Given the description of an element on the screen output the (x, y) to click on. 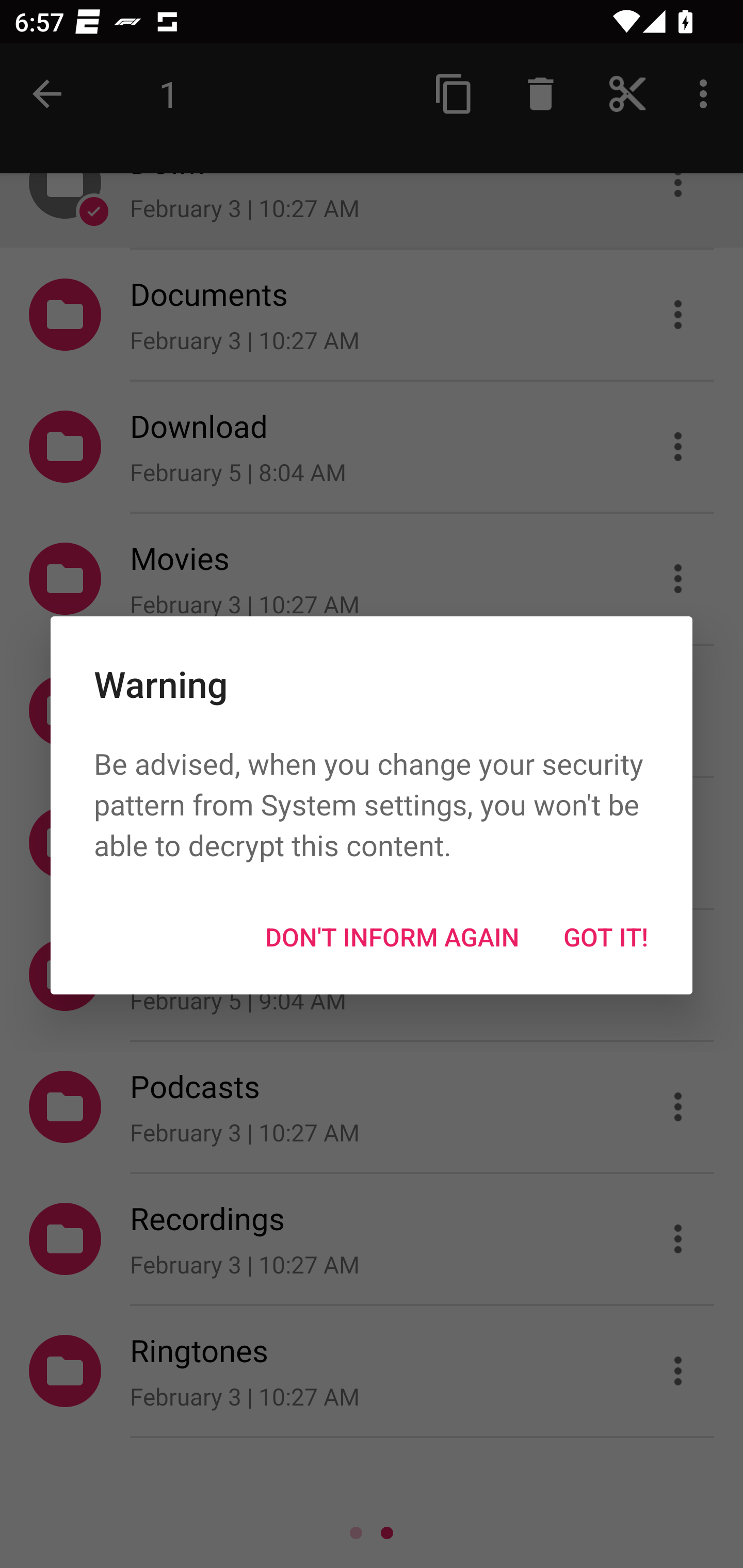
DON'T INFORM AGAIN (391, 936)
GOT IT! (605, 936)
